Given the description of an element on the screen output the (x, y) to click on. 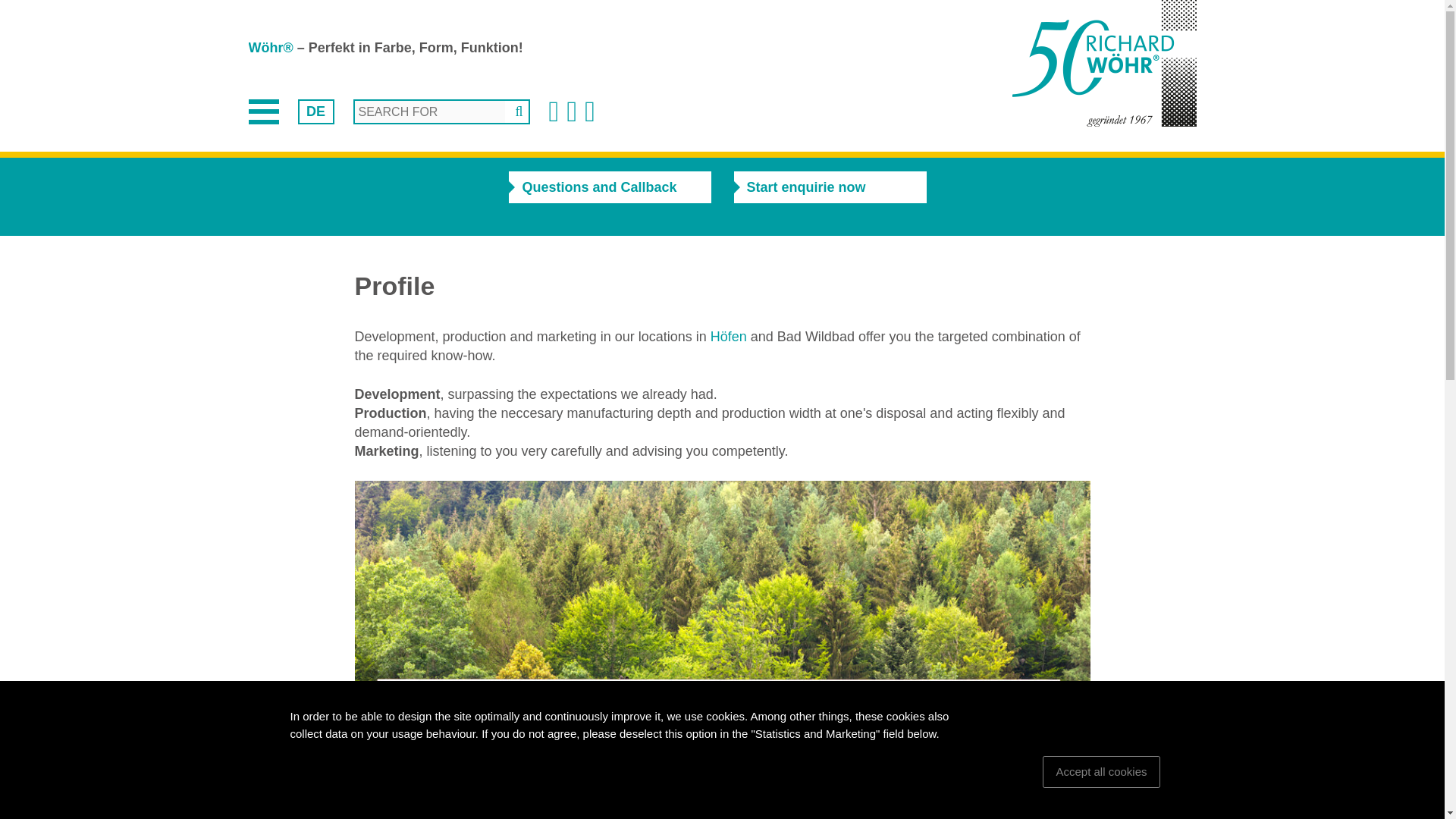
Search (517, 111)
Start enquirie now (829, 187)
DE (315, 111)
Search (517, 111)
Questions and Callback (609, 187)
Opens external link in new window (728, 336)
Search (517, 111)
